Given the description of an element on the screen output the (x, y) to click on. 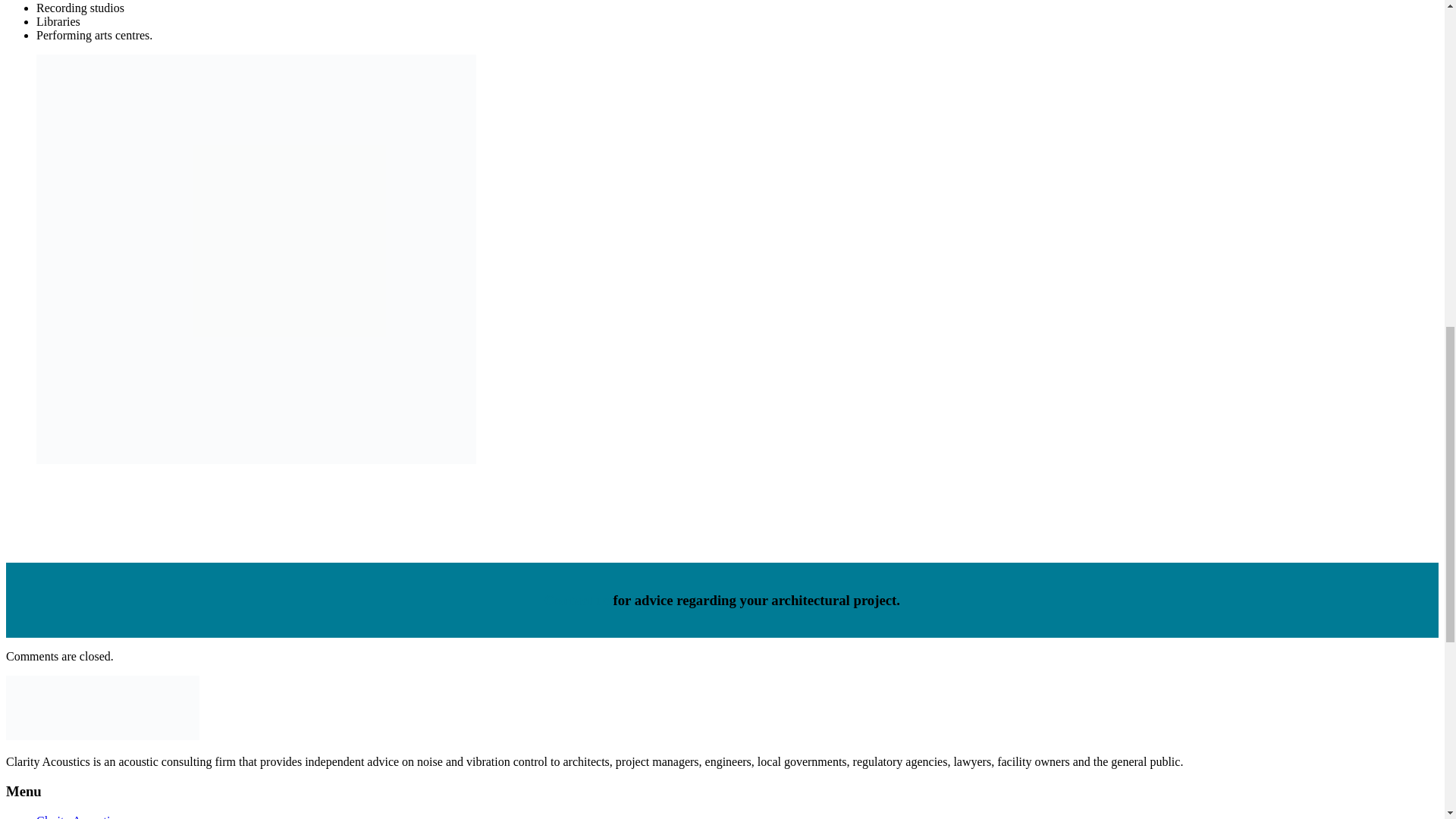
Clarity Acoustics (78, 816)
Contact us (577, 600)
